Given the description of an element on the screen output the (x, y) to click on. 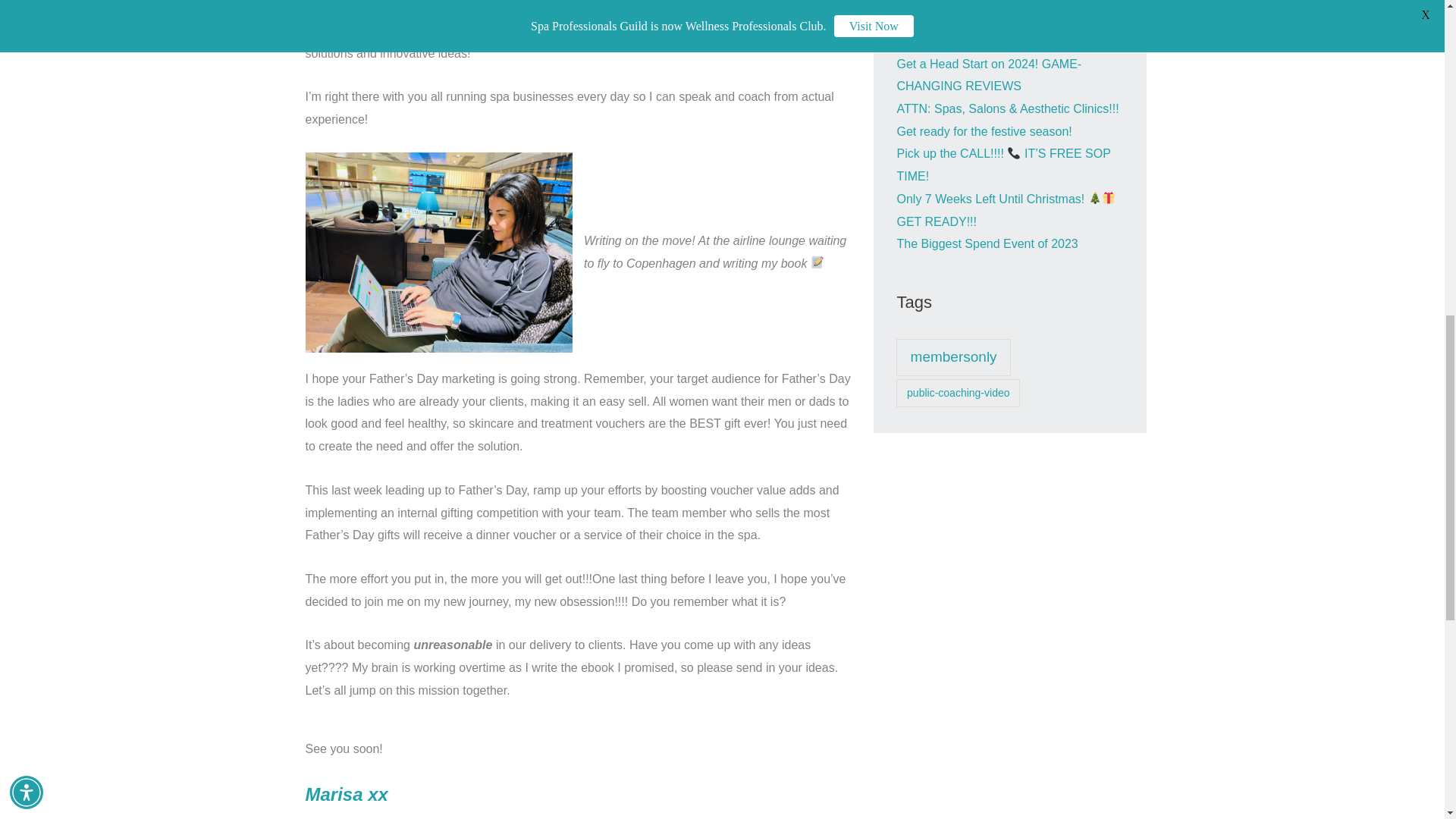
The Biggest Spend Event of 2023 (986, 243)
Get a Head Start on 2024! GAME-CHANGING REVIEWS (988, 75)
public-coaching-video (958, 393)
Only 7 Weeks Left Until Christmas! GET READY!!! (1005, 210)
membersonly (953, 357)
